Given the description of an element on the screen output the (x, y) to click on. 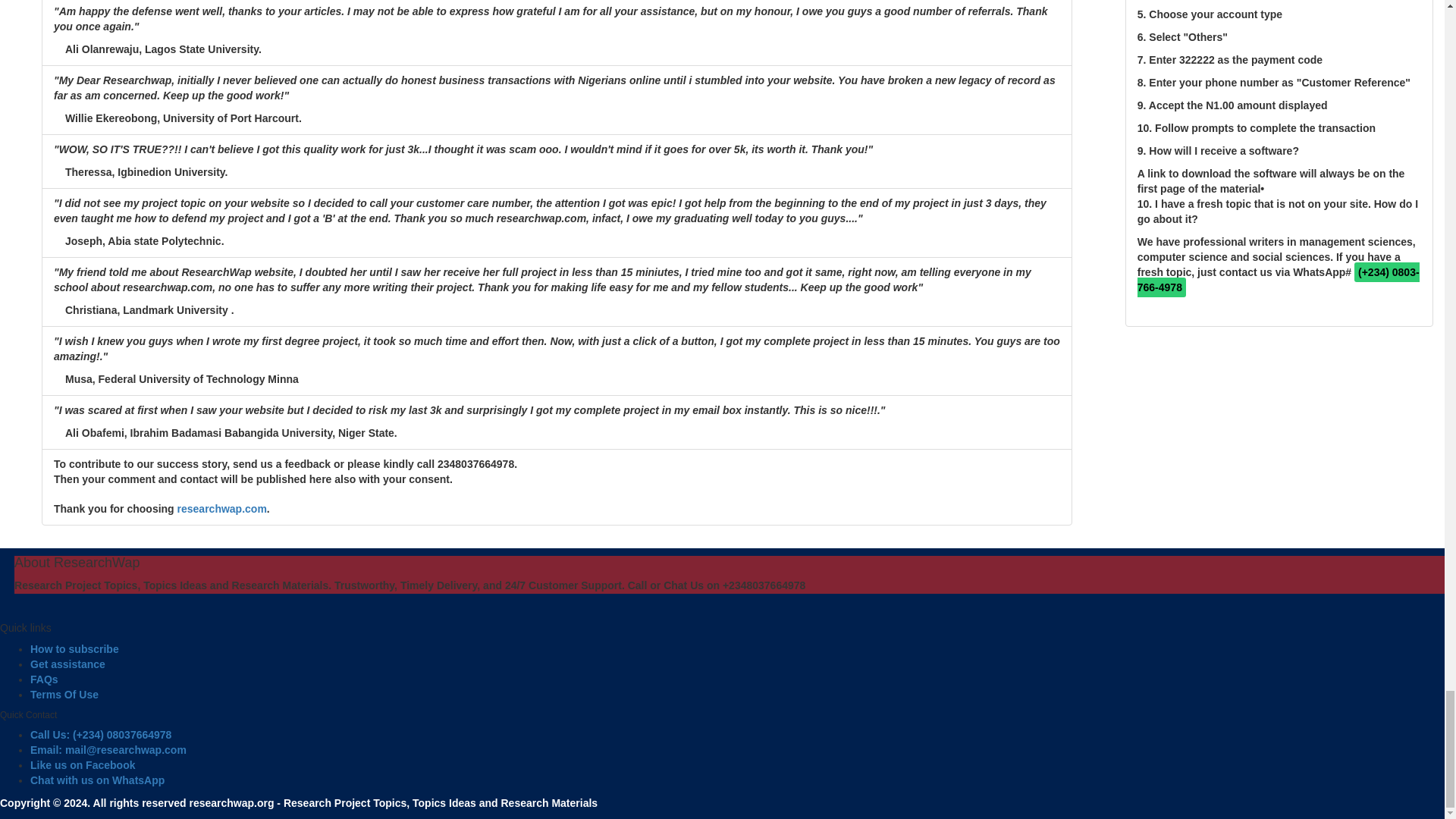
researchwap.com (221, 508)
